Given the description of an element on the screen output the (x, y) to click on. 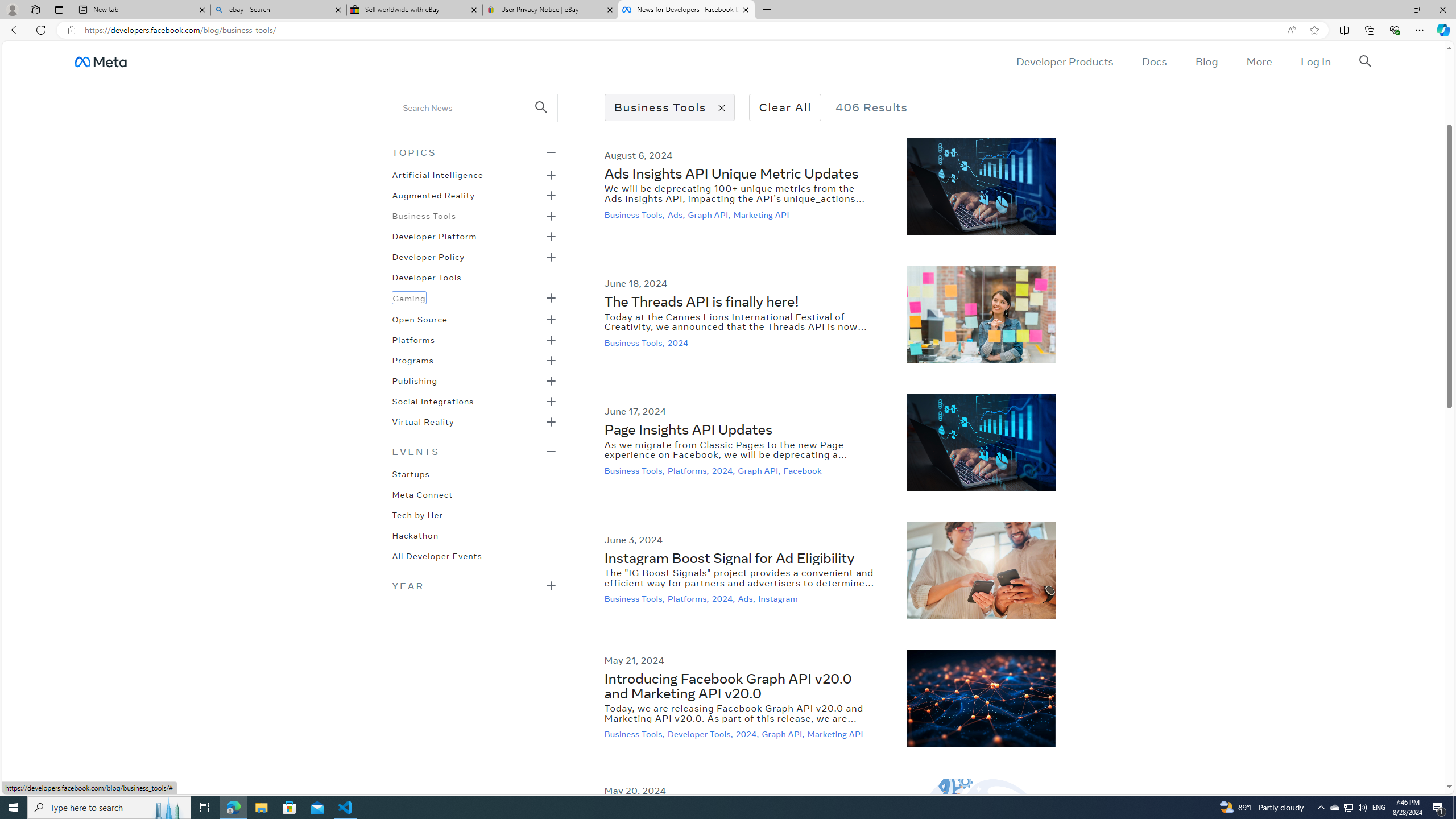
Platforms (413, 338)
User Privacy Notice | eBay (550, 9)
Graph API, (784, 733)
Hackathon (415, 534)
Facebook (803, 470)
Augmented Reality (433, 194)
Developer Tools (426, 276)
AutomationID: u_0_4z_2S (100, 61)
Class: _98ex _98ez (474, 424)
Publishing (414, 379)
Developer Policy (428, 255)
